Given the description of an element on the screen output the (x, y) to click on. 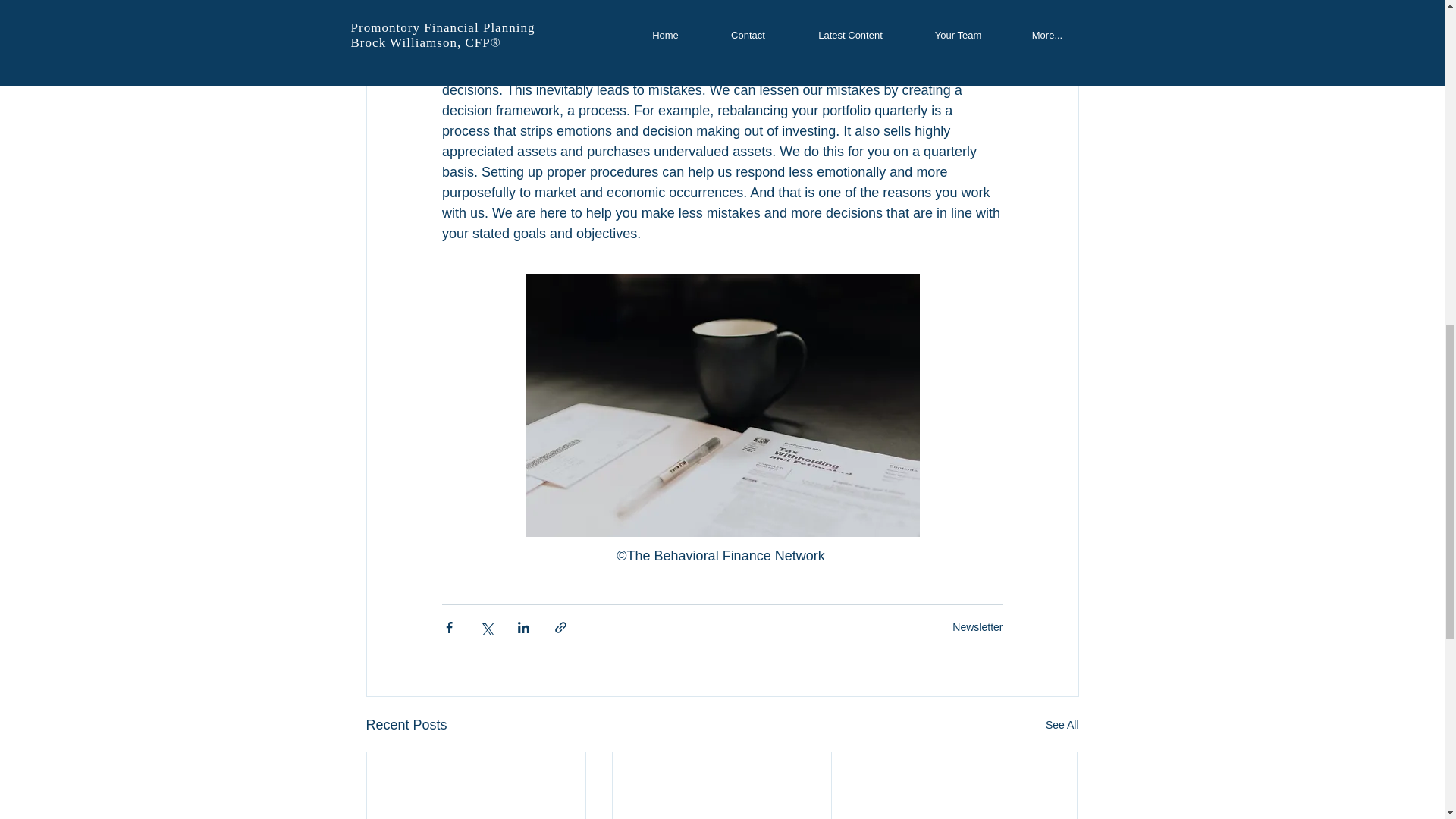
Newsletter (977, 626)
See All (1061, 725)
